Given the description of an element on the screen output the (x, y) to click on. 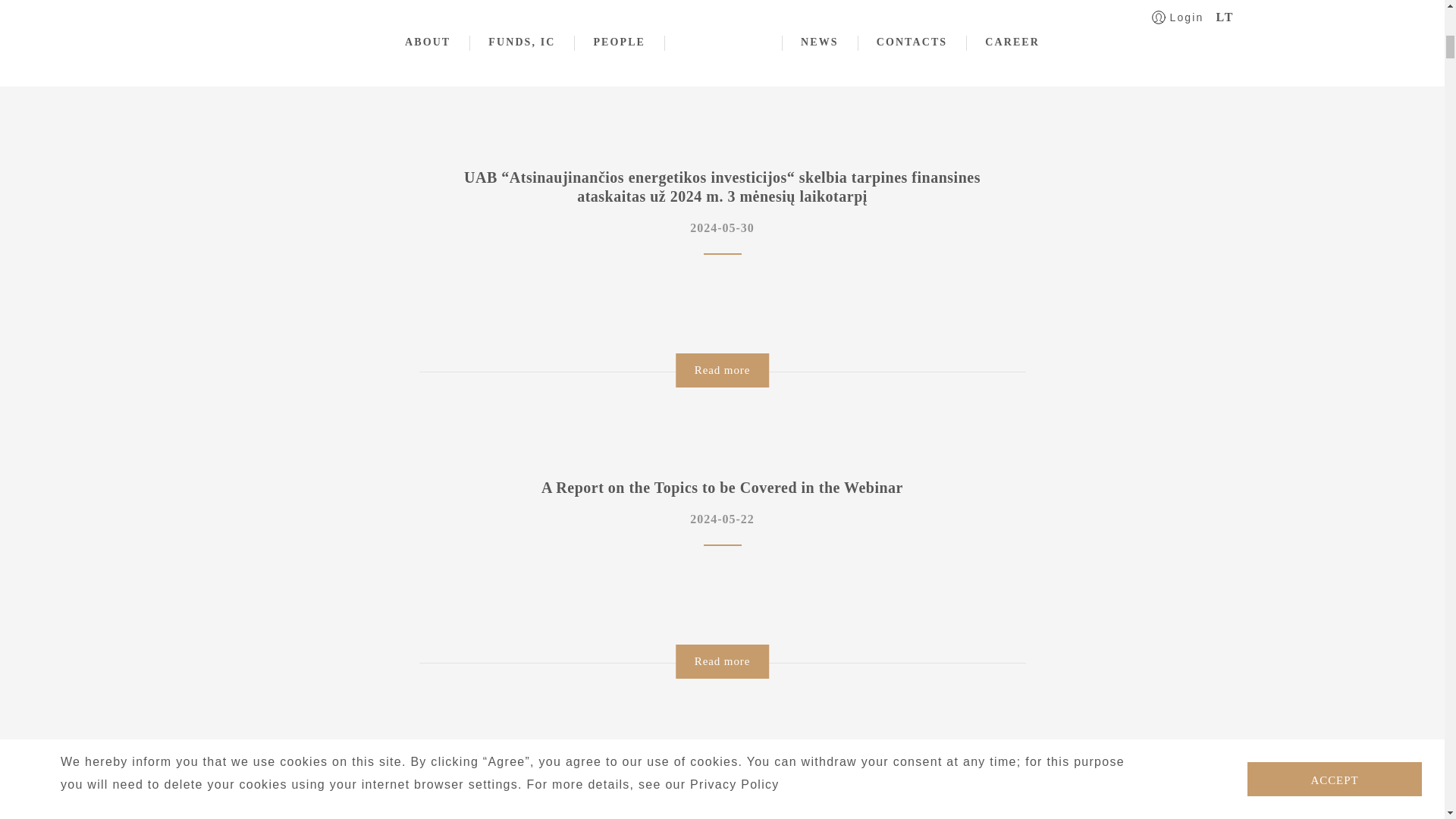
Read more (722, 59)
Read more (722, 369)
Read more (722, 661)
